Given the description of an element on the screen output the (x, y) to click on. 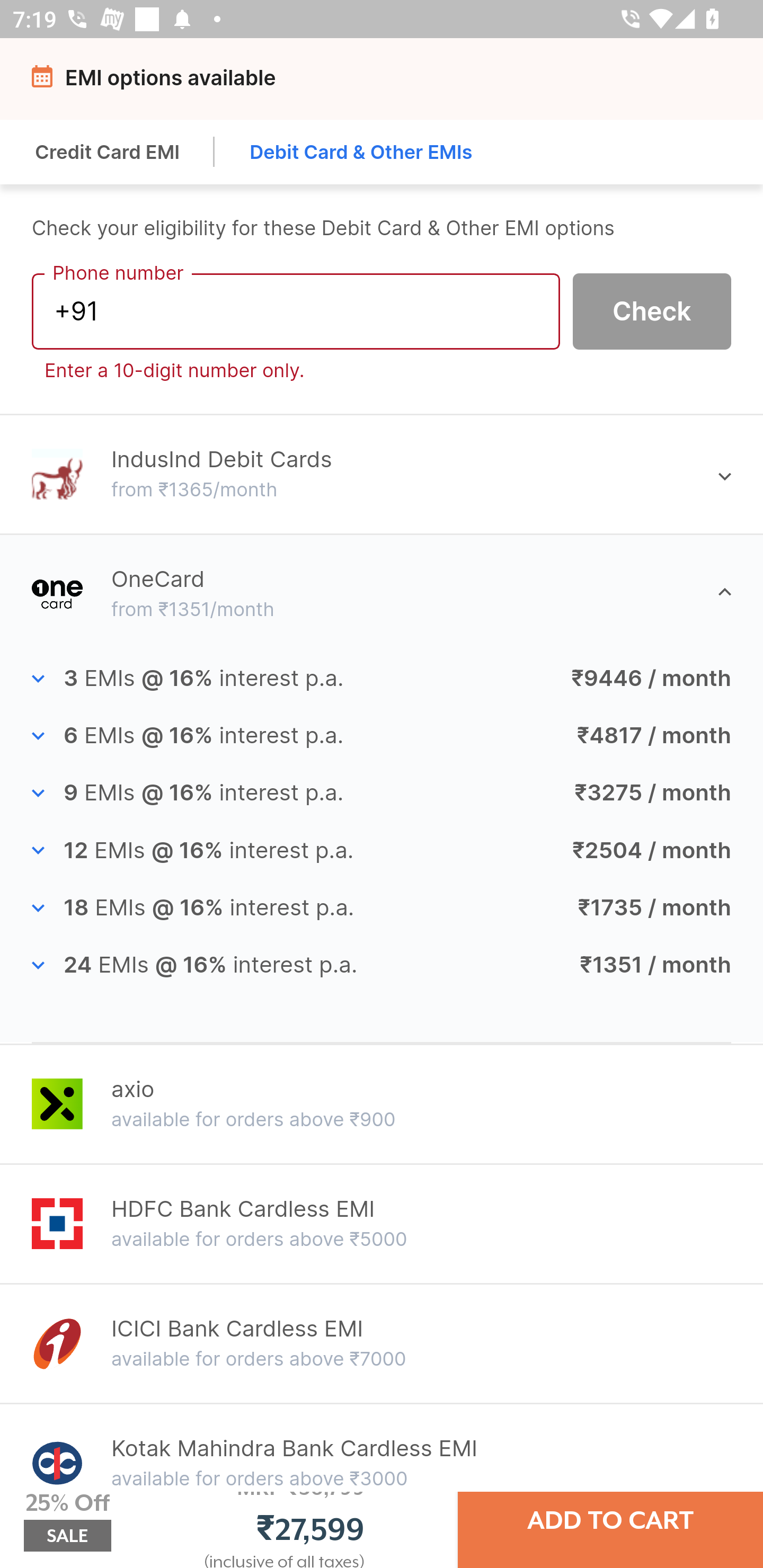
Navigate up (44, 82)
Credit Card EMI (107, 152)
Debit Card & Other EMIs (361, 152)
Check (651, 310)
OneCard OneCard from ₹1351/month (381, 593)
3 EMIs @ 16% interest p.a. ₹9446 / month (381, 678)
6 EMIs @ 16% interest p.a. ₹4817 / month (381, 735)
9 EMIs @ 16% interest p.a. ₹3275 / month (381, 793)
12 EMIs @ 16% interest p.a. ₹2504 / month (381, 850)
18 EMIs @ 16% interest p.a. ₹1735 / month (381, 908)
24 EMIs @ 16% interest p.a. ₹1351 / month (381, 964)
